Given the description of an element on the screen output the (x, y) to click on. 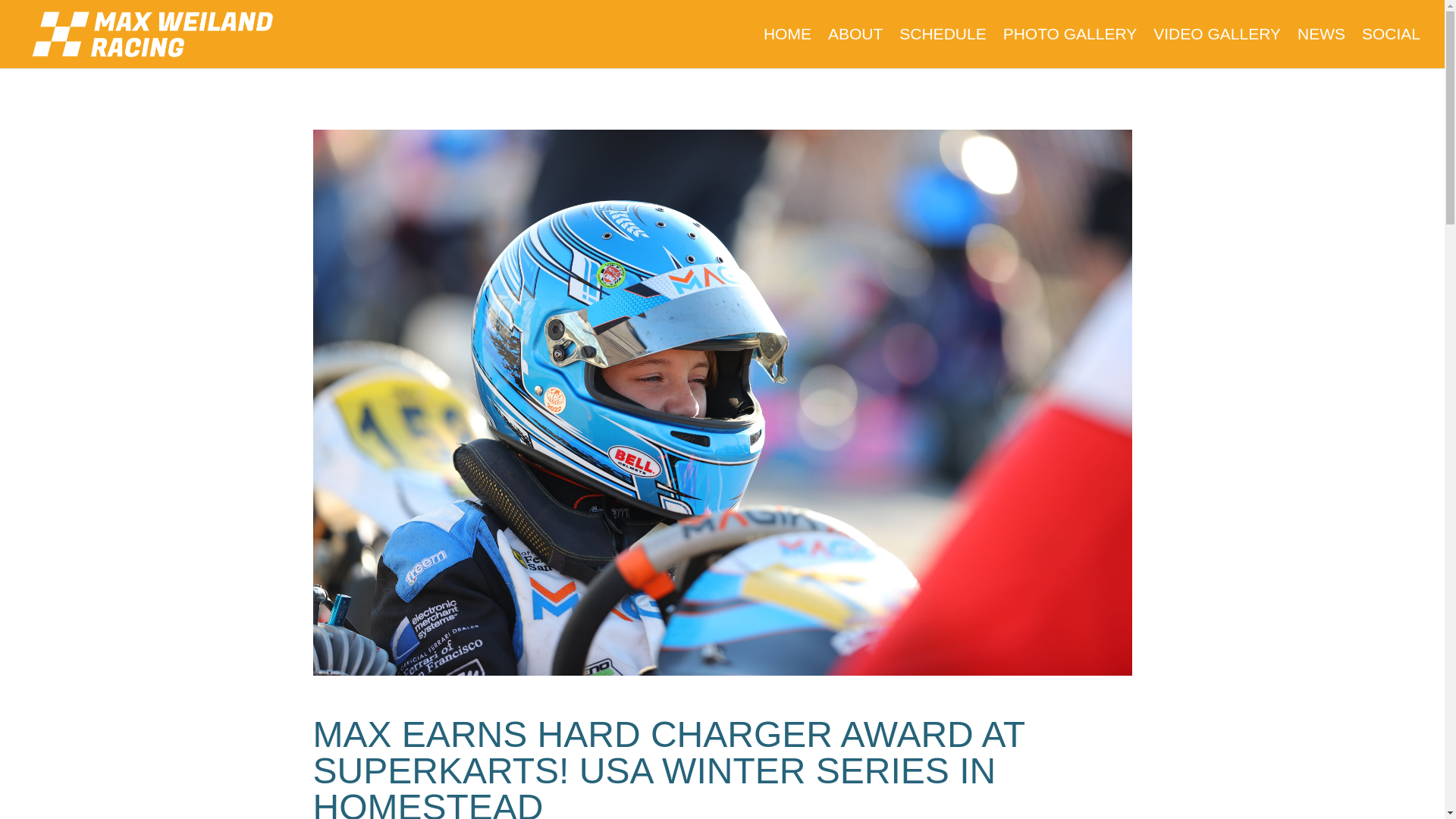
PHOTO GALLERY (1070, 47)
SCHEDULE (942, 47)
VIDEO GALLERY (1217, 47)
NEWS (1321, 47)
SOCIAL (1391, 47)
ABOUT (855, 47)
HOME (786, 47)
